Given the description of an element on the screen output the (x, y) to click on. 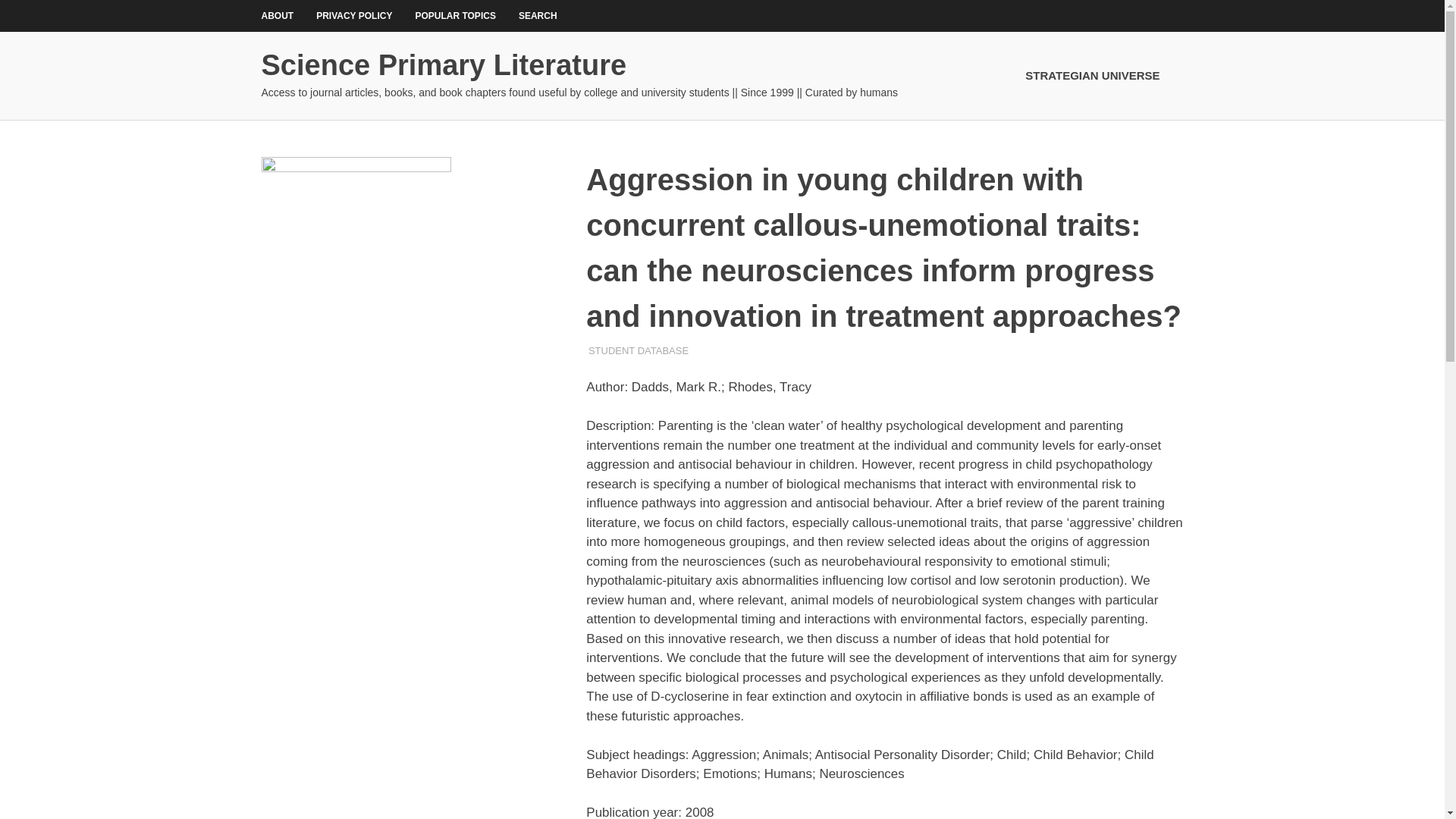
POPULAR TOPICS (454, 15)
ENGELADMIN (620, 350)
6:51 pm (624, 350)
STUDENT DATABASE (638, 350)
ABOUT (277, 15)
PRIVACY POLICY (353, 15)
View all posts by engeladmin (620, 350)
STRATEGIAN UNIVERSE (1096, 76)
MARCH 6, 2021 (624, 350)
Science Primary Literature (443, 65)
